Given the description of an element on the screen output the (x, y) to click on. 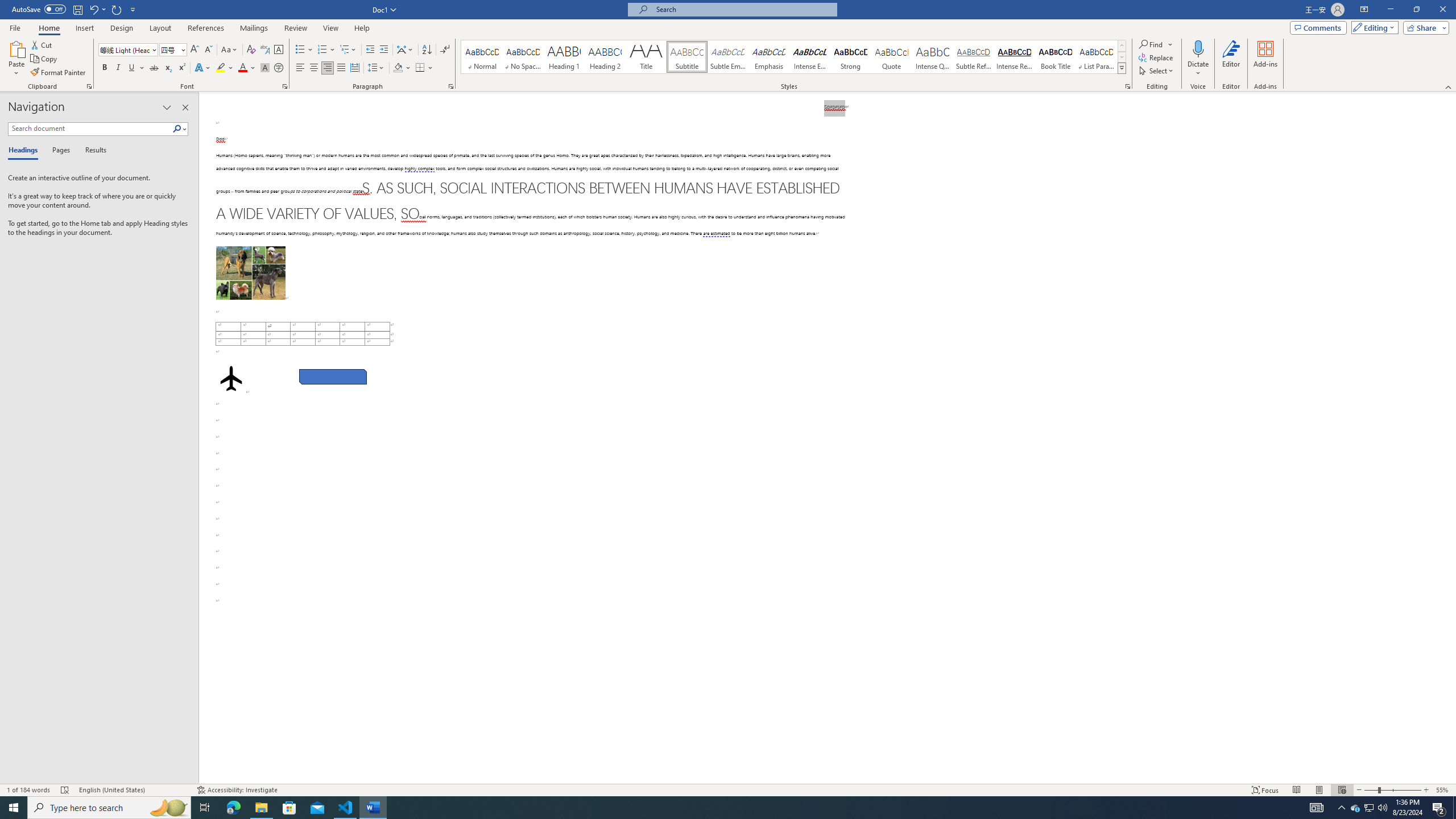
Book Title (1055, 56)
Quick Access Toolbar (74, 9)
Strong (849, 56)
Headings (25, 150)
Underline (131, 67)
Character Border (278, 49)
Review (295, 28)
Select (1157, 69)
Justify (340, 67)
Text Highlight Color Yellow (220, 67)
Airplane with solid fill (230, 378)
Font (128, 49)
